Given the description of an element on the screen output the (x, y) to click on. 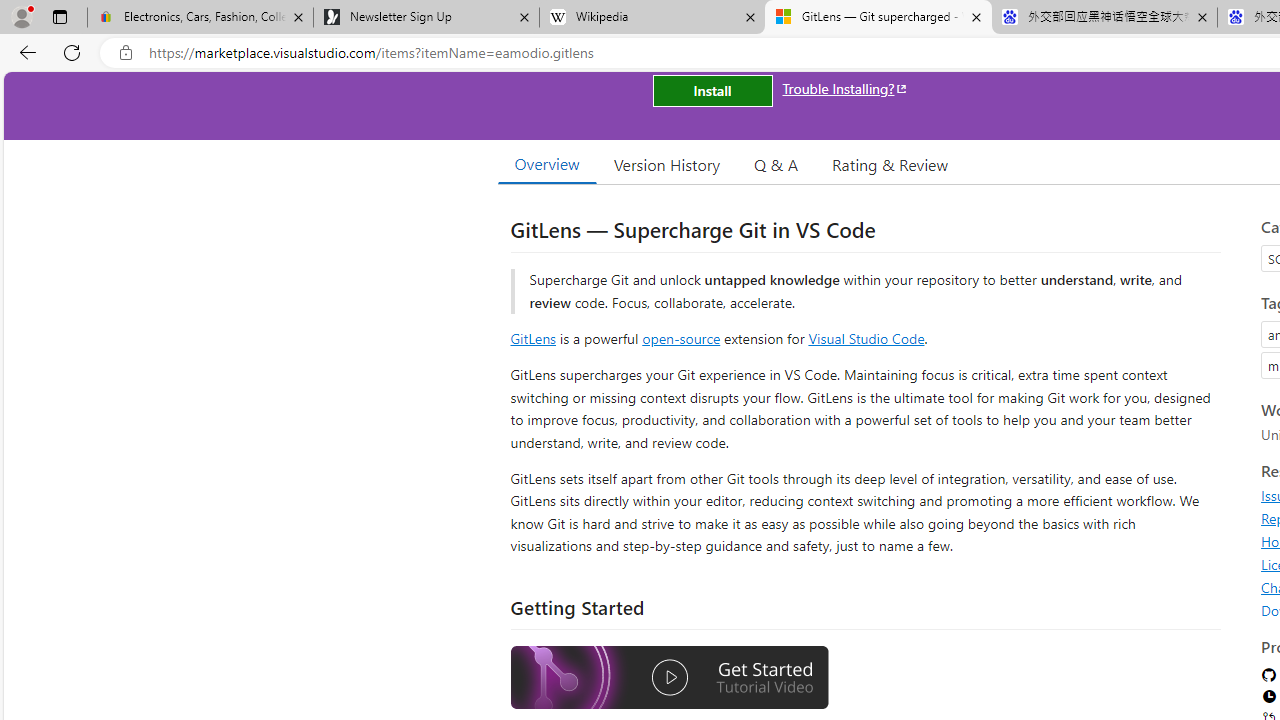
Version History (667, 164)
open-source (681, 337)
Visual Studio Code (866, 337)
Overview (546, 164)
Watch the GitLens Getting Started video (669, 679)
Newsletter Sign Up (425, 17)
Rating & Review (890, 164)
Q & A (776, 164)
